Given the description of an element on the screen output the (x, y) to click on. 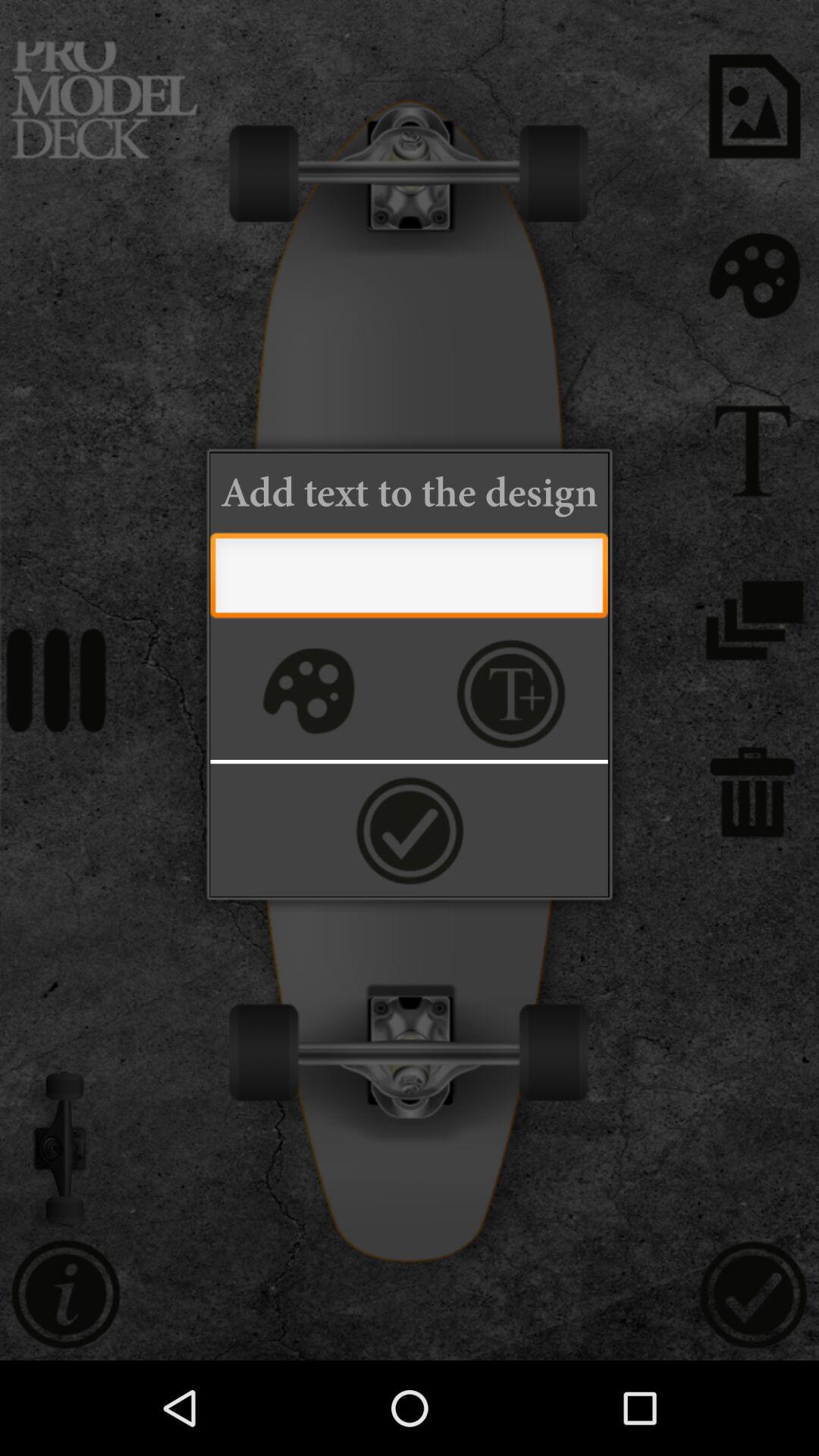
add color to the design (306, 693)
